Given the description of an element on the screen output the (x, y) to click on. 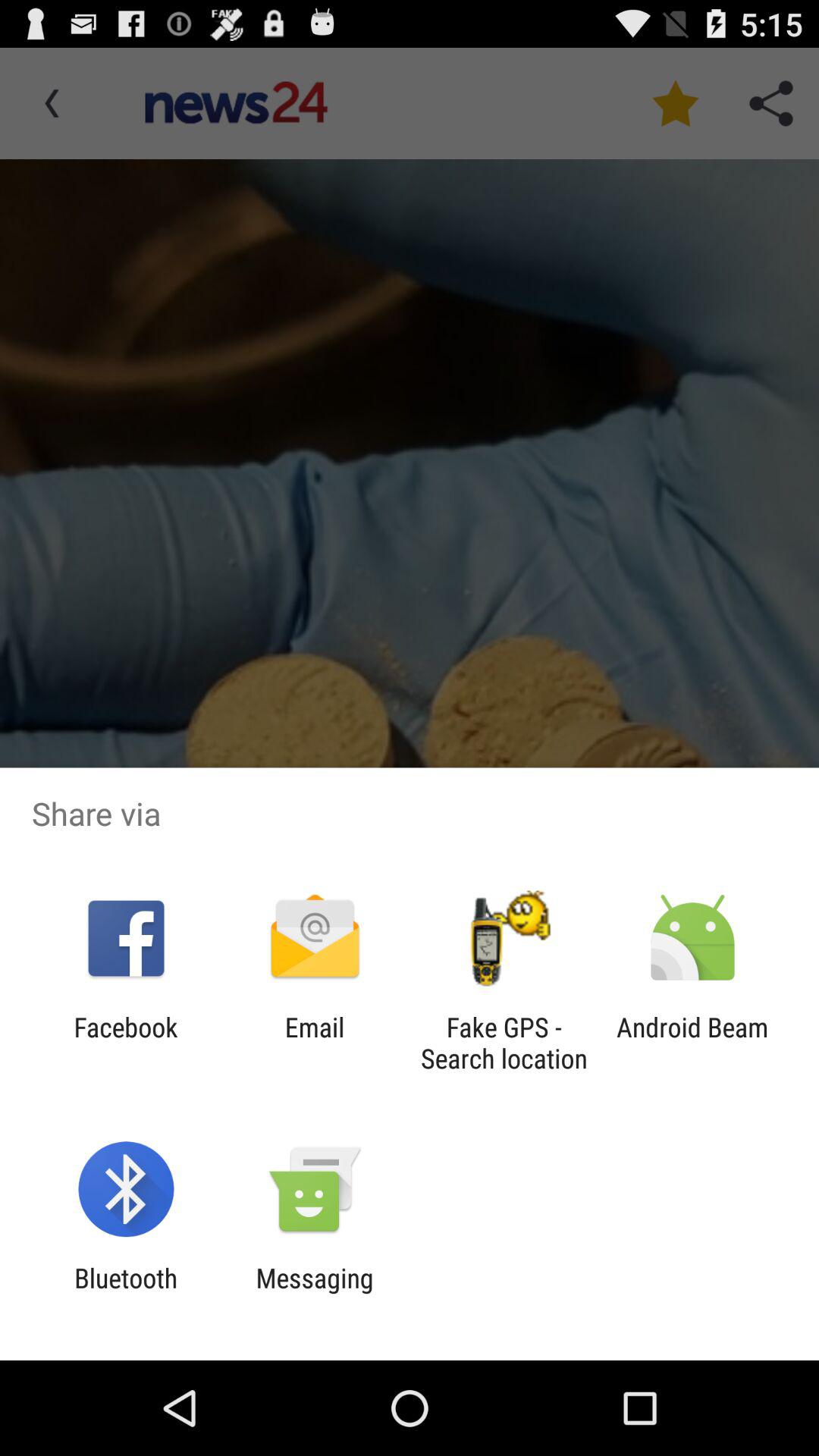
turn off item next to the messaging app (125, 1293)
